Given the description of an element on the screen output the (x, y) to click on. 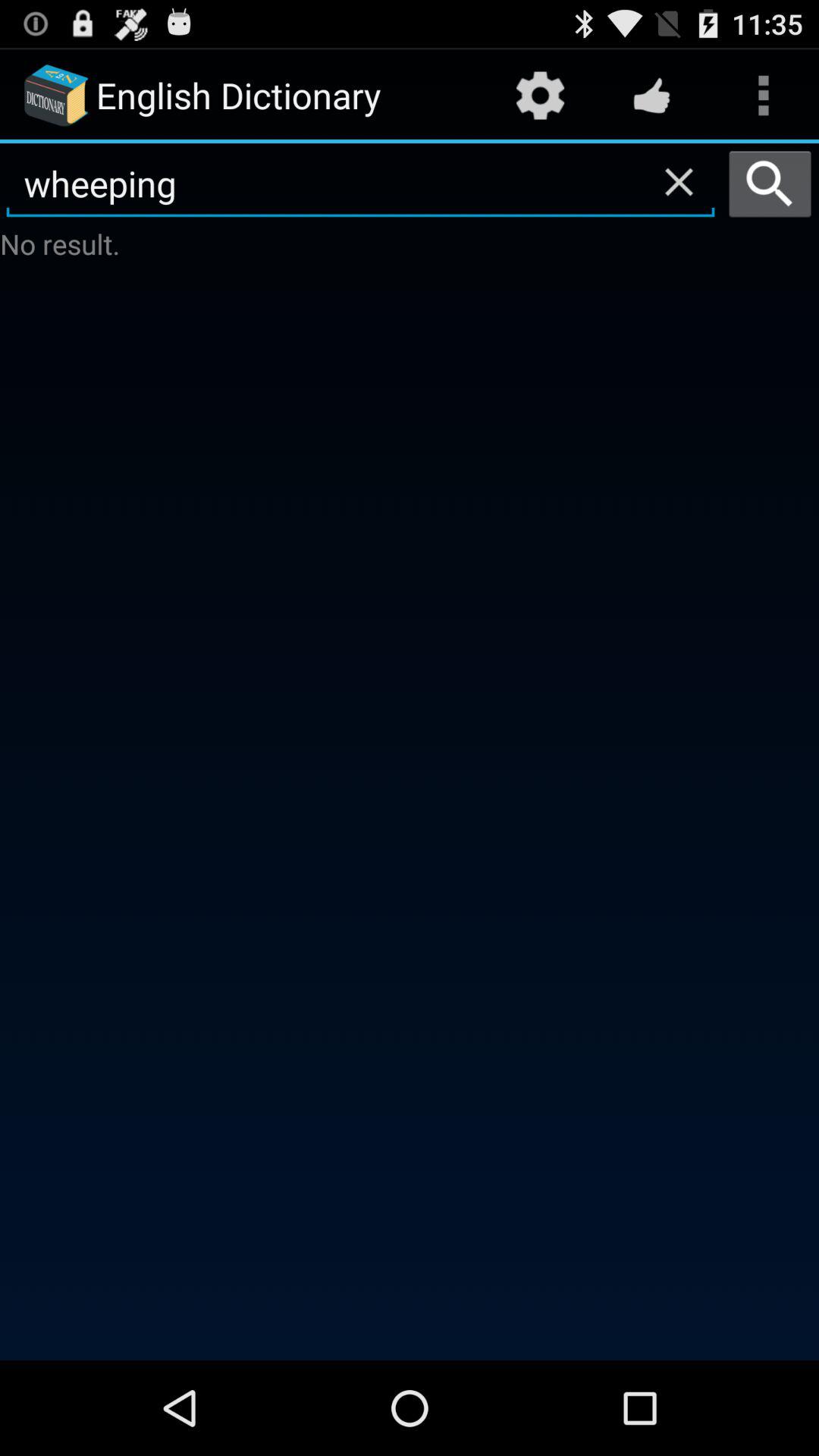
choose item next to english dictionary app (540, 95)
